Given the description of an element on the screen output the (x, y) to click on. 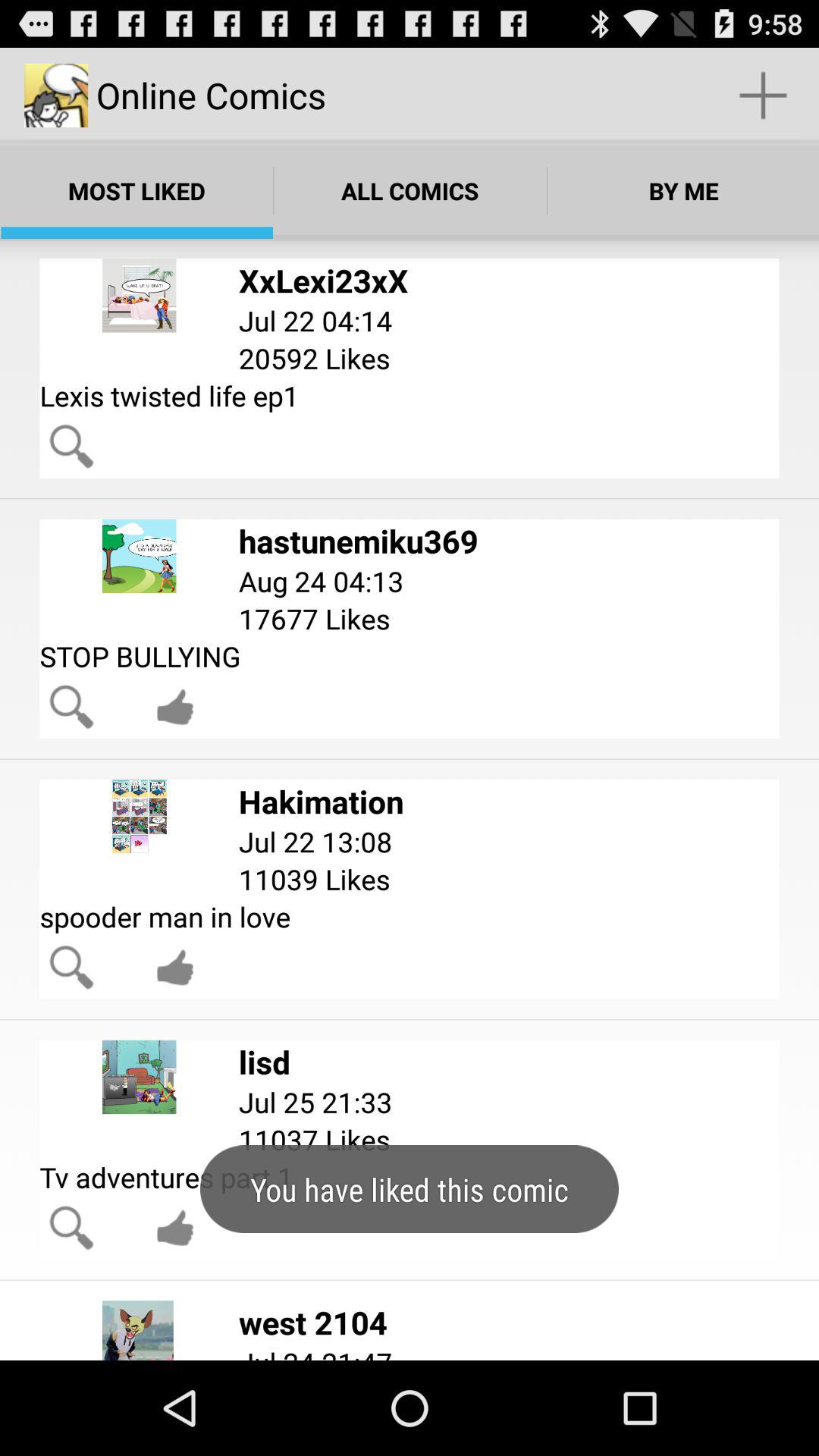
like comic (175, 1227)
